Given the description of an element on the screen output the (x, y) to click on. 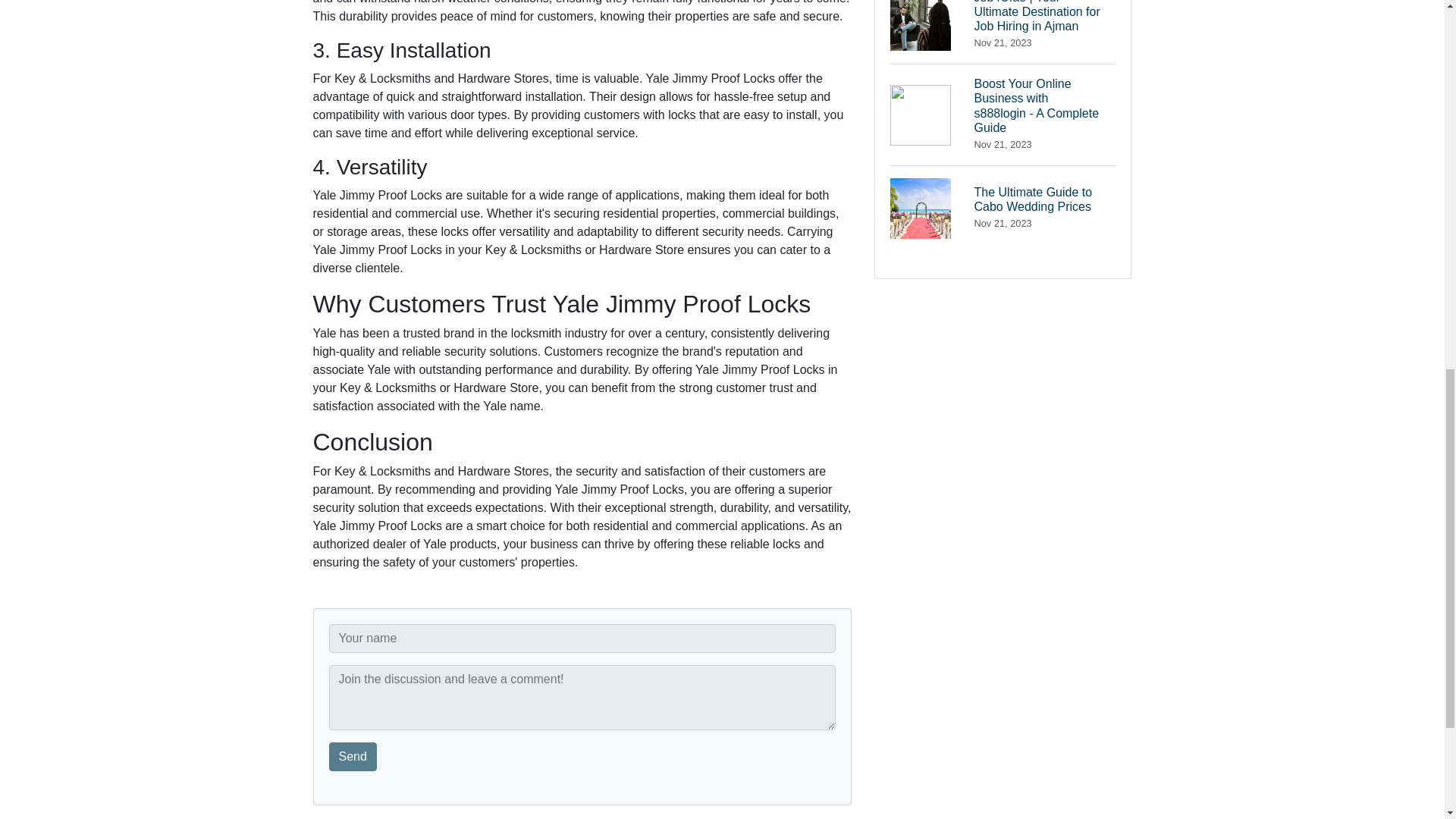
Send (353, 756)
Send (353, 756)
